Given the description of an element on the screen output the (x, y) to click on. 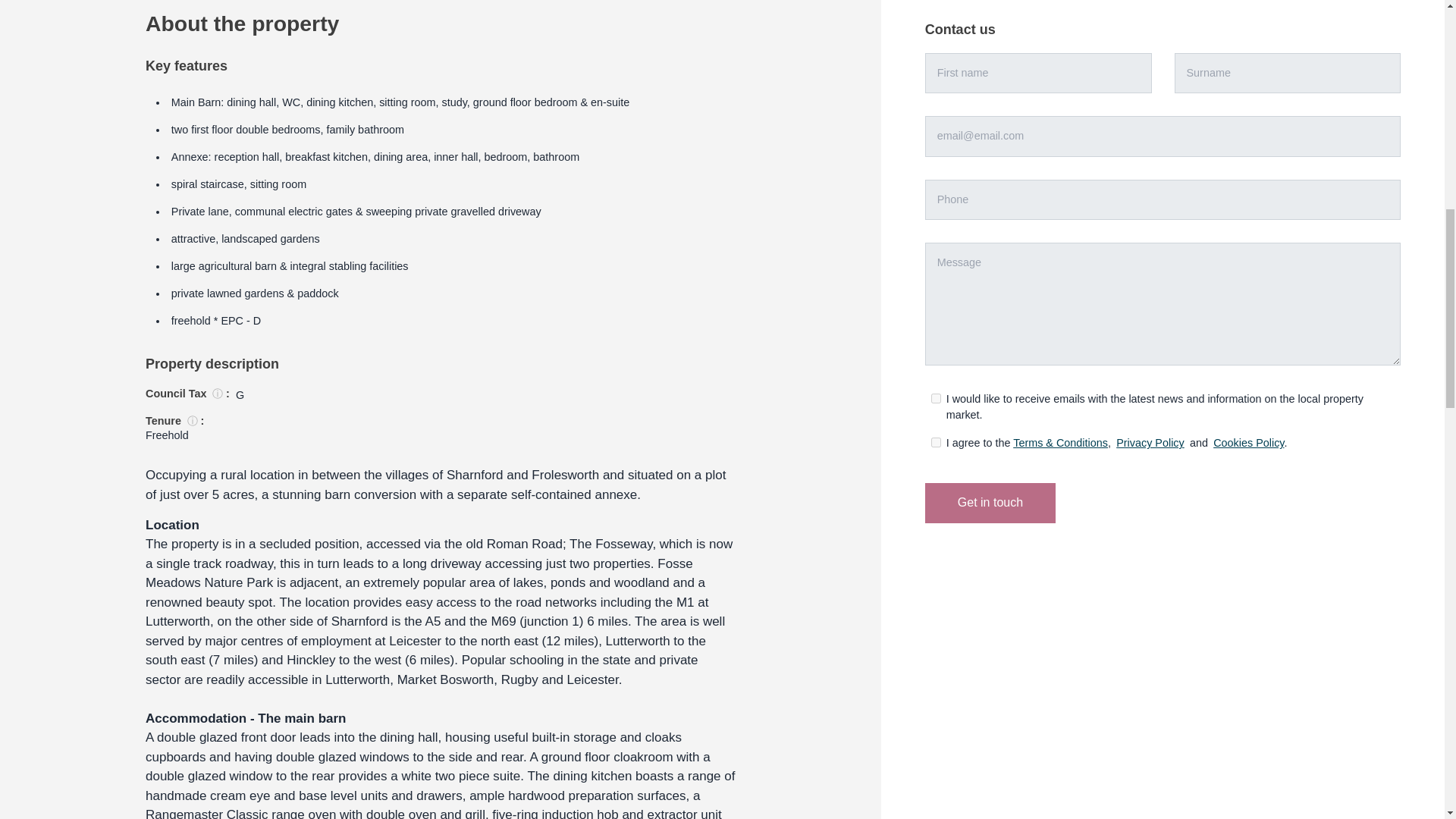
on (935, 398)
Cookies Policy (1248, 442)
Get in touch (990, 503)
Contact us (1162, 30)
Get in touch (990, 503)
Privacy Policy (1150, 442)
on (935, 442)
